Given the description of an element on the screen output the (x, y) to click on. 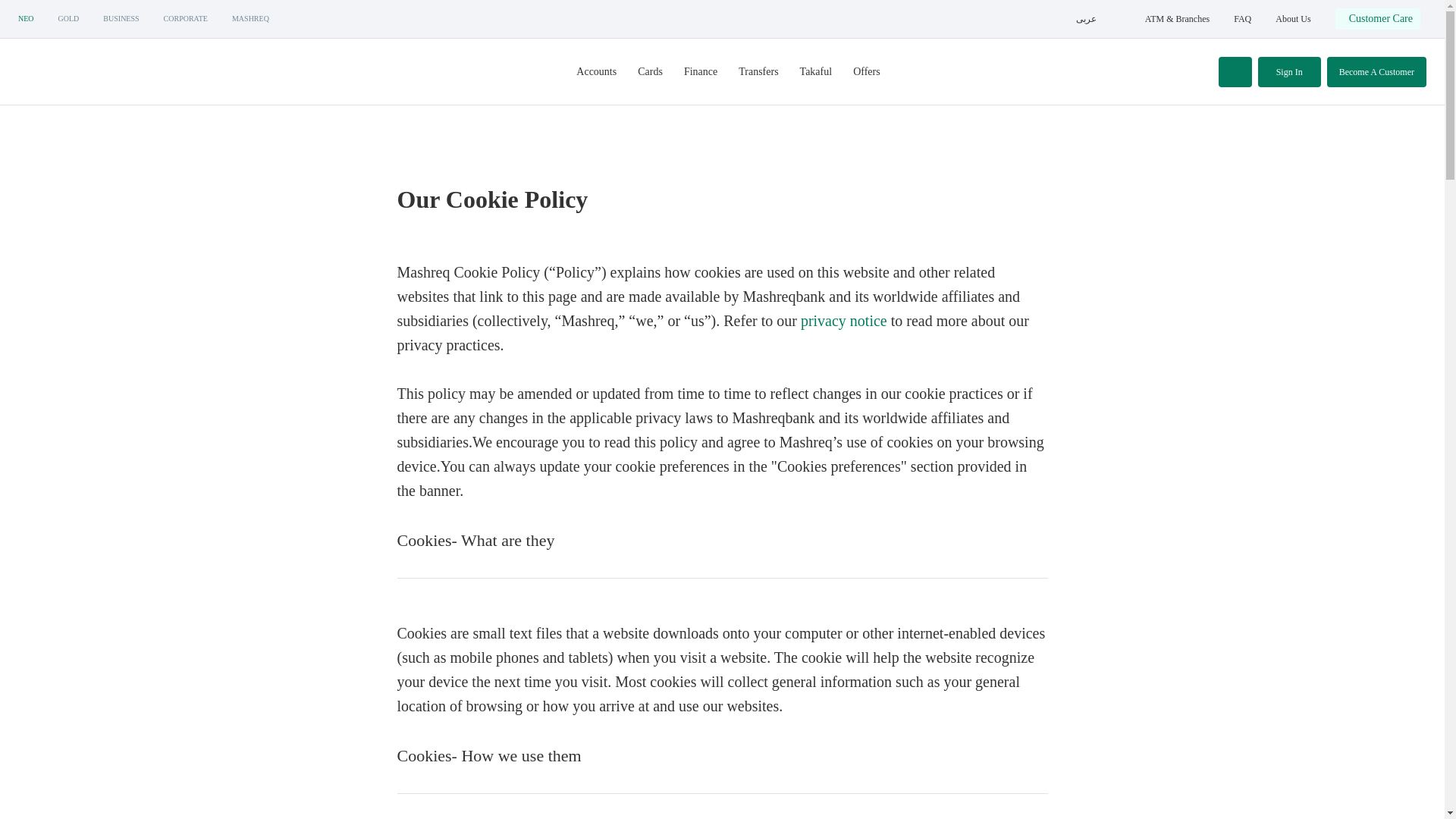
MASHREQ (250, 19)
Inquiry (1378, 30)
BUSINESS (120, 19)
Complaint (1385, 30)
Become A Customer (1376, 71)
NEO (25, 19)
FAQ (1241, 19)
Sign In (1288, 71)
GOLD (69, 19)
Customer Care (1378, 18)
Feedback (1382, 30)
Become A Customer (1376, 71)
About Us (1292, 19)
Customer Care (1378, 18)
privacy notice (843, 320)
